Given the description of an element on the screen output the (x, y) to click on. 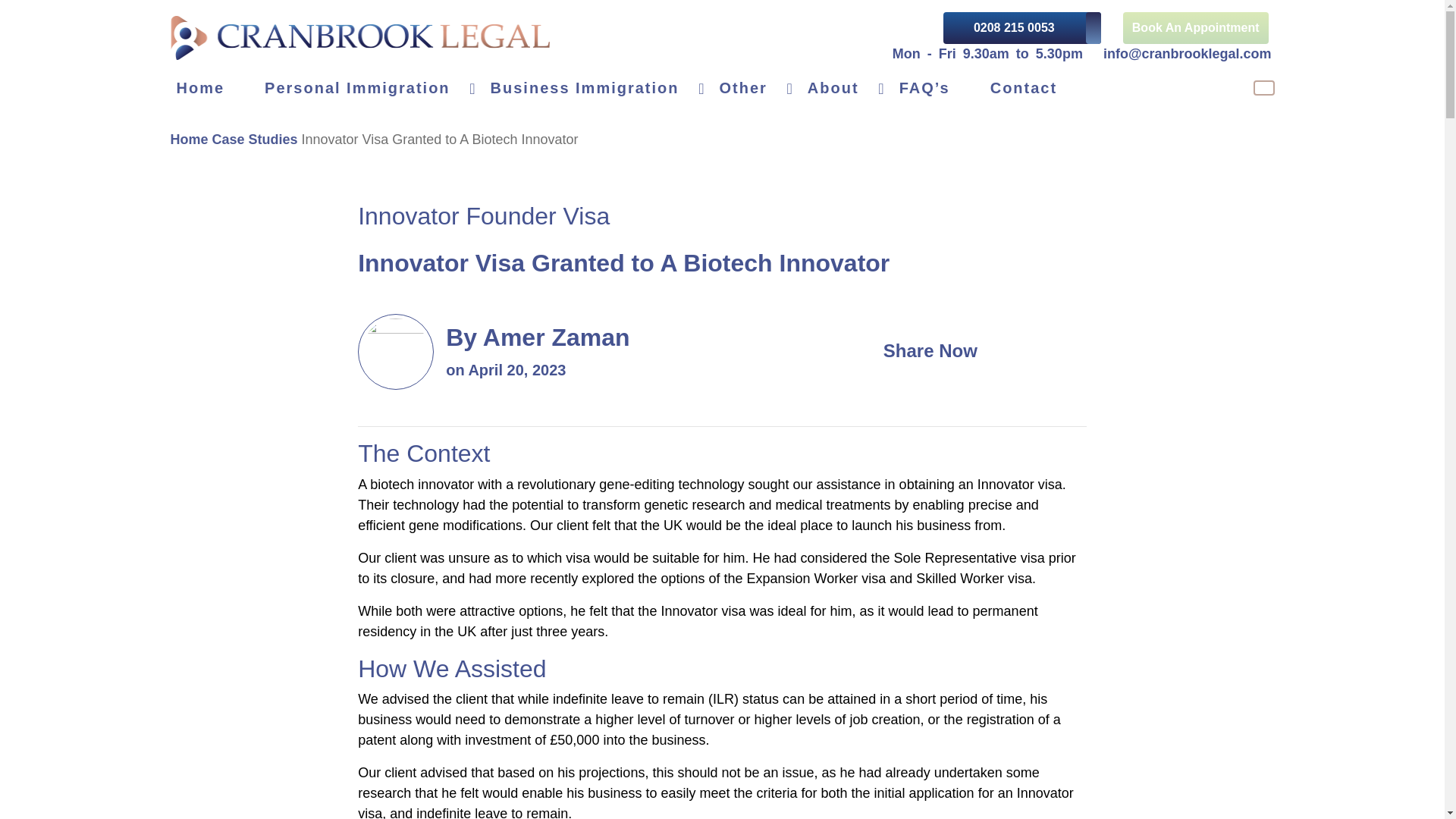
0208 215 0053 (1021, 28)
Personal Immigration (371, 87)
Book An Appointment (1195, 28)
Home (214, 87)
